Given the description of an element on the screen output the (x, y) to click on. 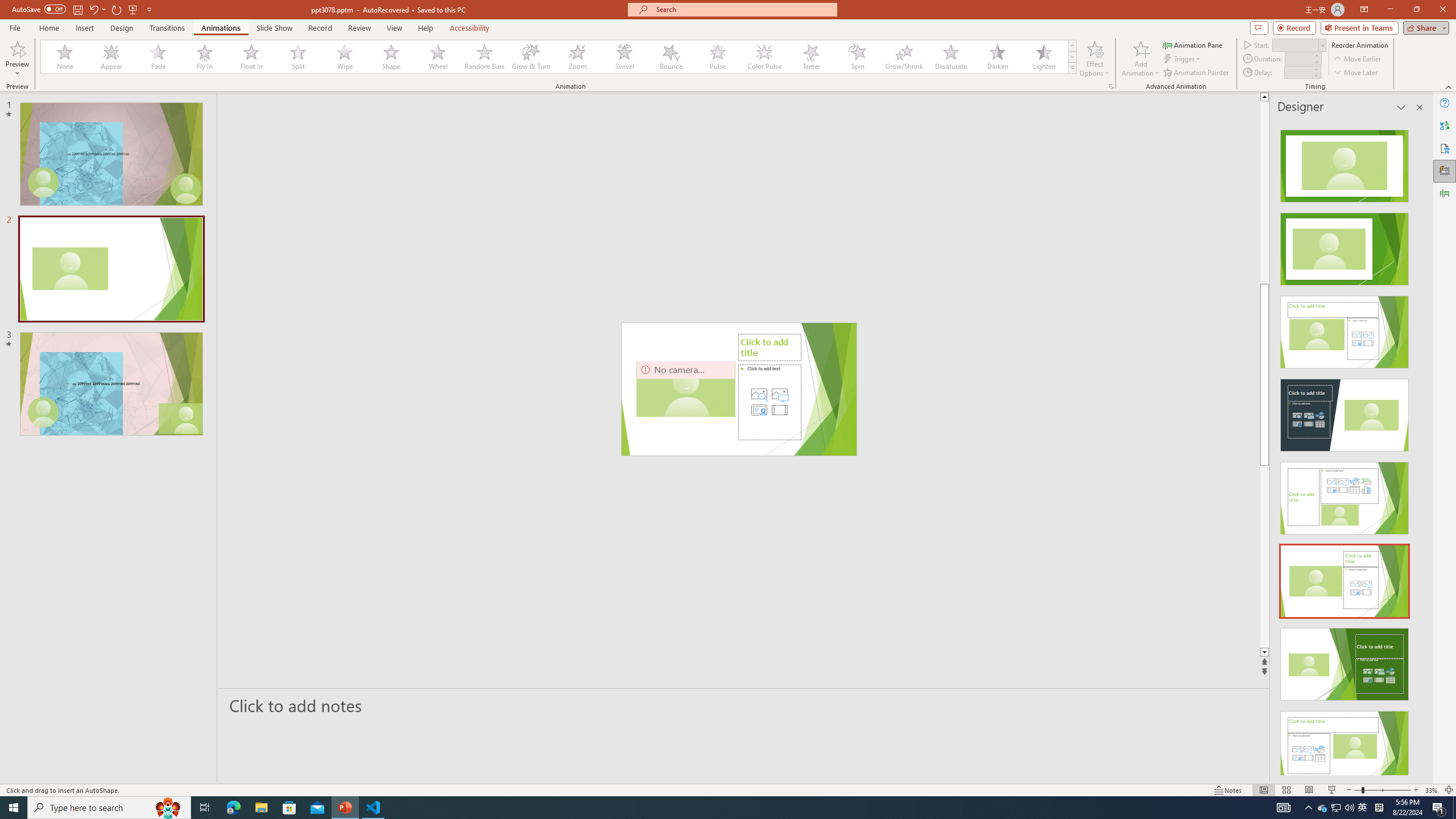
Task Pane Options (1400, 107)
Close (1442, 9)
Spin (857, 56)
None (65, 56)
Open (1321, 44)
Row Down (1071, 56)
Zoom In (1415, 790)
Page up (1302, 192)
Animation Pane (1193, 44)
Teeter (810, 56)
Wipe (344, 56)
Insert Cameo (758, 409)
Animation Delay (1297, 72)
System (6, 6)
Animation Painter (1196, 72)
